Given the description of an element on the screen output the (x, y) to click on. 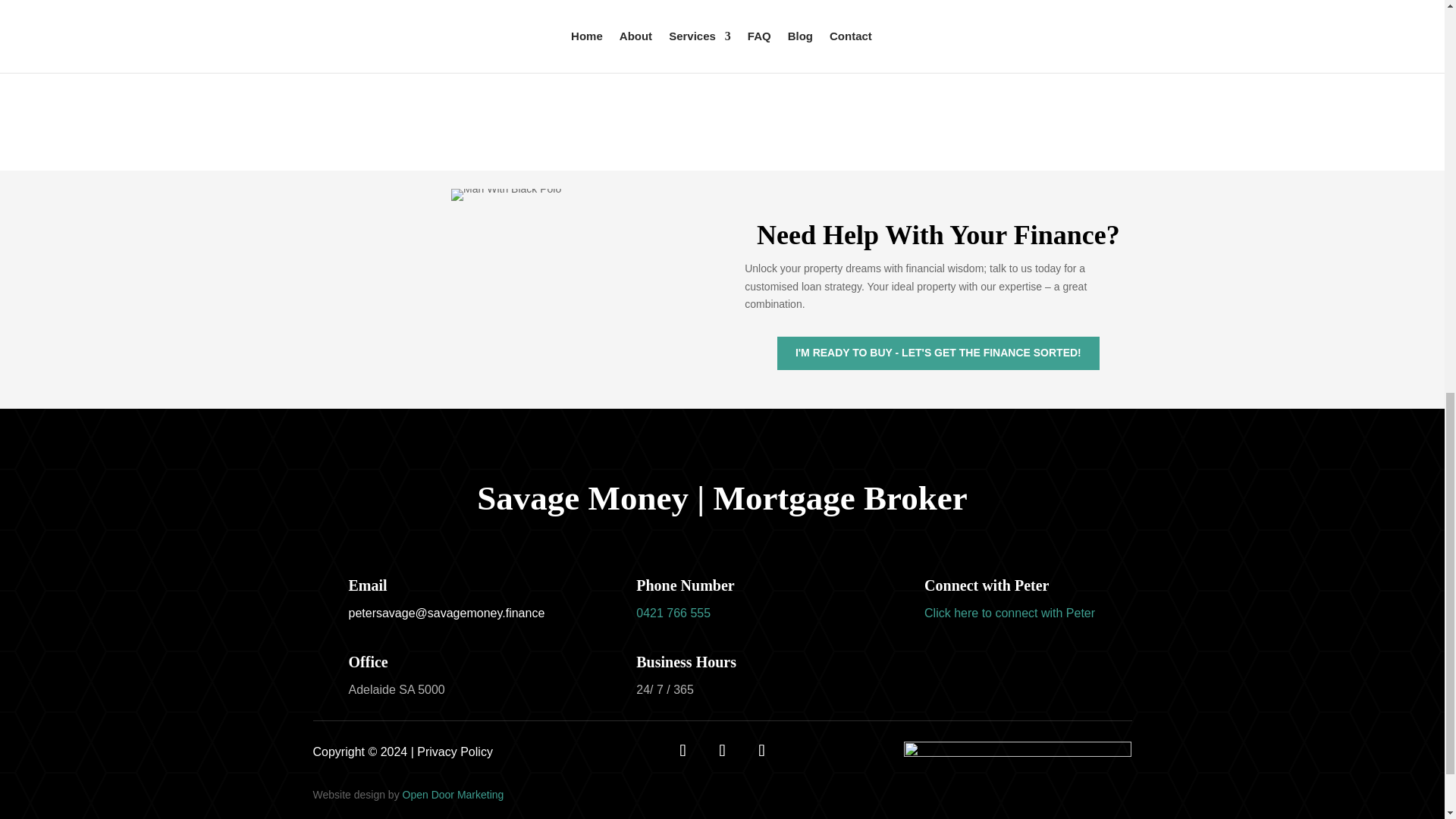
Follow on Instagram (760, 750)
I'M READY TO BUY - LET'S GET THE FINANCE SORTED! (938, 353)
Connect with peter (1009, 612)
Follow on Facebook (681, 750)
005-e1698809495494 (505, 194)
Open Door Marketing (453, 794)
Follow on X (721, 750)
Click here to connect with Peter (1009, 612)
0421 766 555 (673, 612)
Privacy Policy (454, 751)
